Given the description of an element on the screen output the (x, y) to click on. 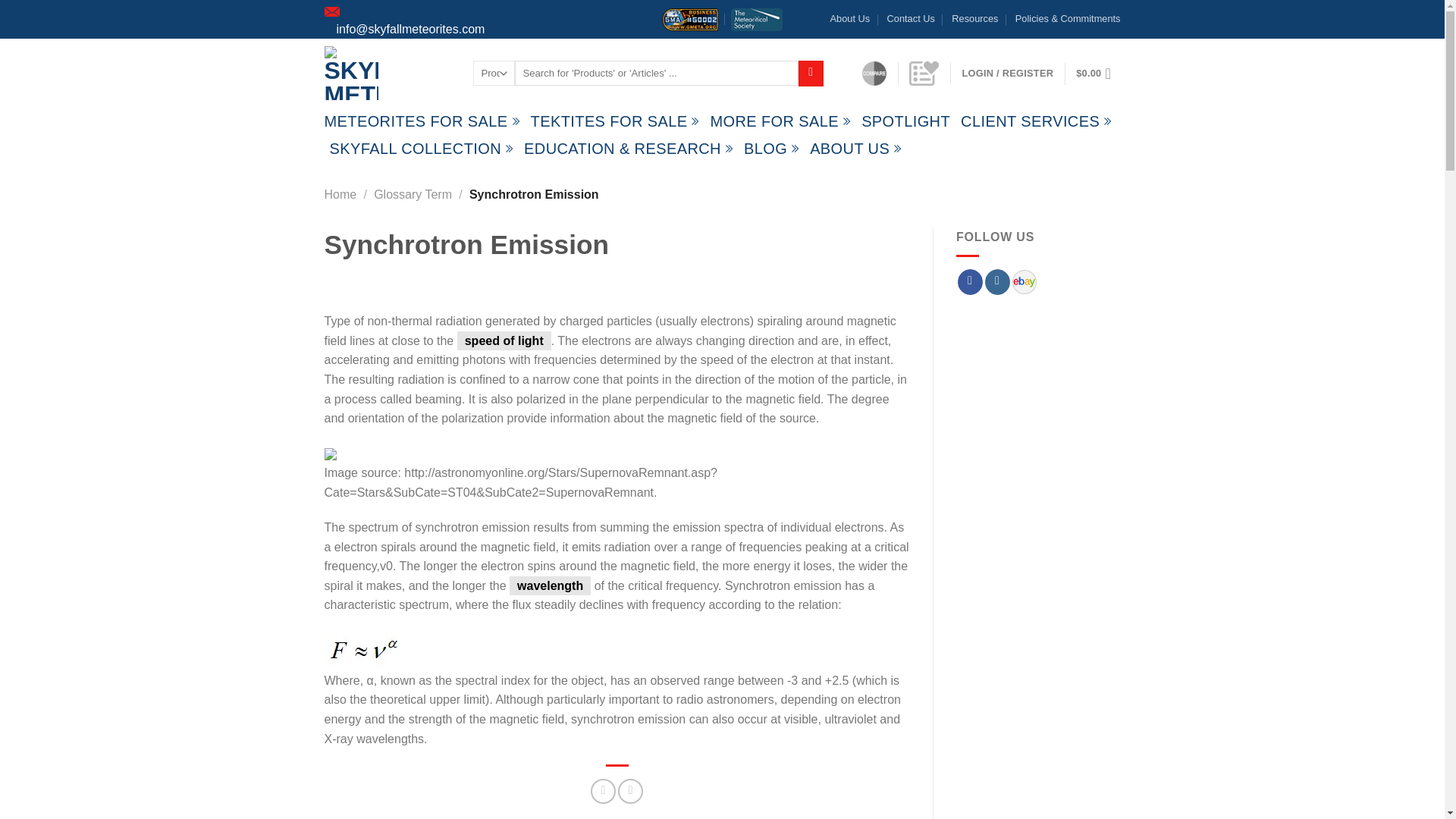
METEORITES FOR SALE (421, 121)
Resources (974, 18)
Cart (1097, 73)
Follow on Instagram (997, 281)
Follow on Facebook (970, 281)
Search (810, 73)
Follow on Ebay (1018, 281)
Contact Us (910, 18)
About Us (849, 18)
